Given the description of an element on the screen output the (x, y) to click on. 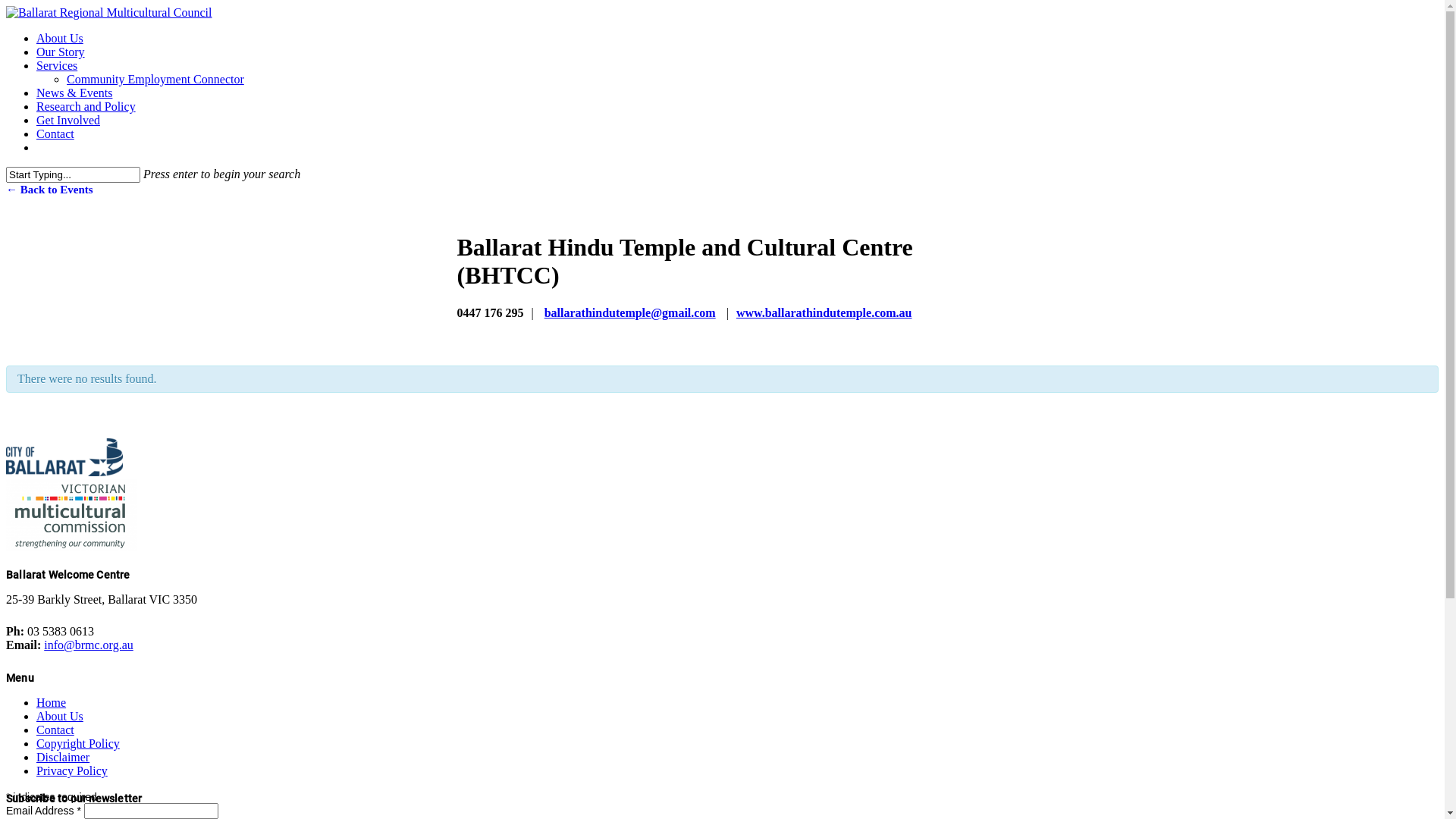
Home Element type: text (50, 702)
Contact Element type: text (55, 133)
Research and Policy Element type: text (85, 106)
Disclaimer Element type: text (62, 756)
About Us Element type: text (59, 715)
Community Employment Connector Element type: text (155, 78)
Contact Element type: text (55, 729)
info@brmc.org.au Element type: text (88, 644)
www.ballarathindutemple.com.au Element type: text (824, 312)
Get Involved Element type: text (68, 119)
ballarathindutemple@gmail.com Element type: text (629, 312)
Privacy Policy Element type: text (71, 770)
Our Story Element type: text (60, 51)
Services Element type: text (56, 65)
Copyright Policy Element type: text (77, 743)
About Us Element type: text (59, 37)
News & Events Element type: text (74, 92)
